Given the description of an element on the screen output the (x, y) to click on. 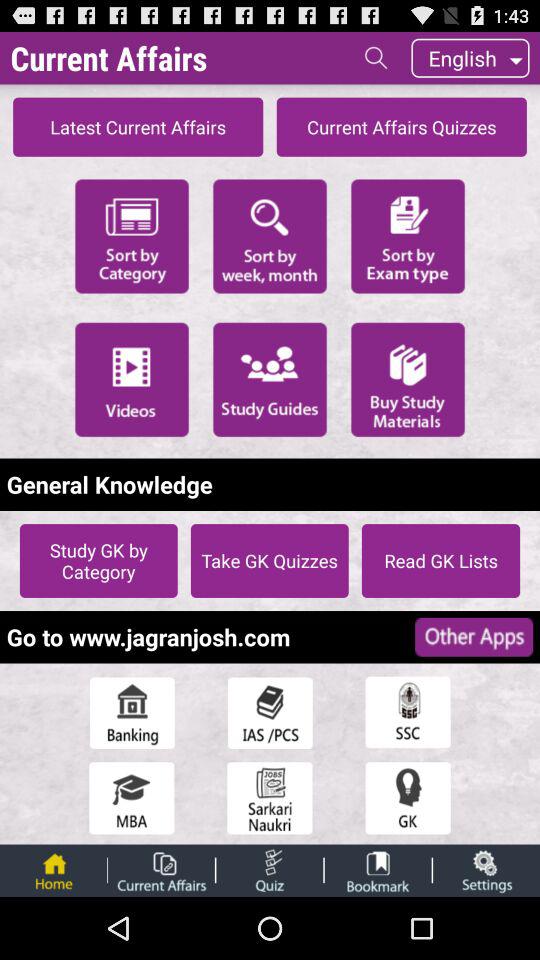
filters the category (131, 234)
